Given the description of an element on the screen output the (x, y) to click on. 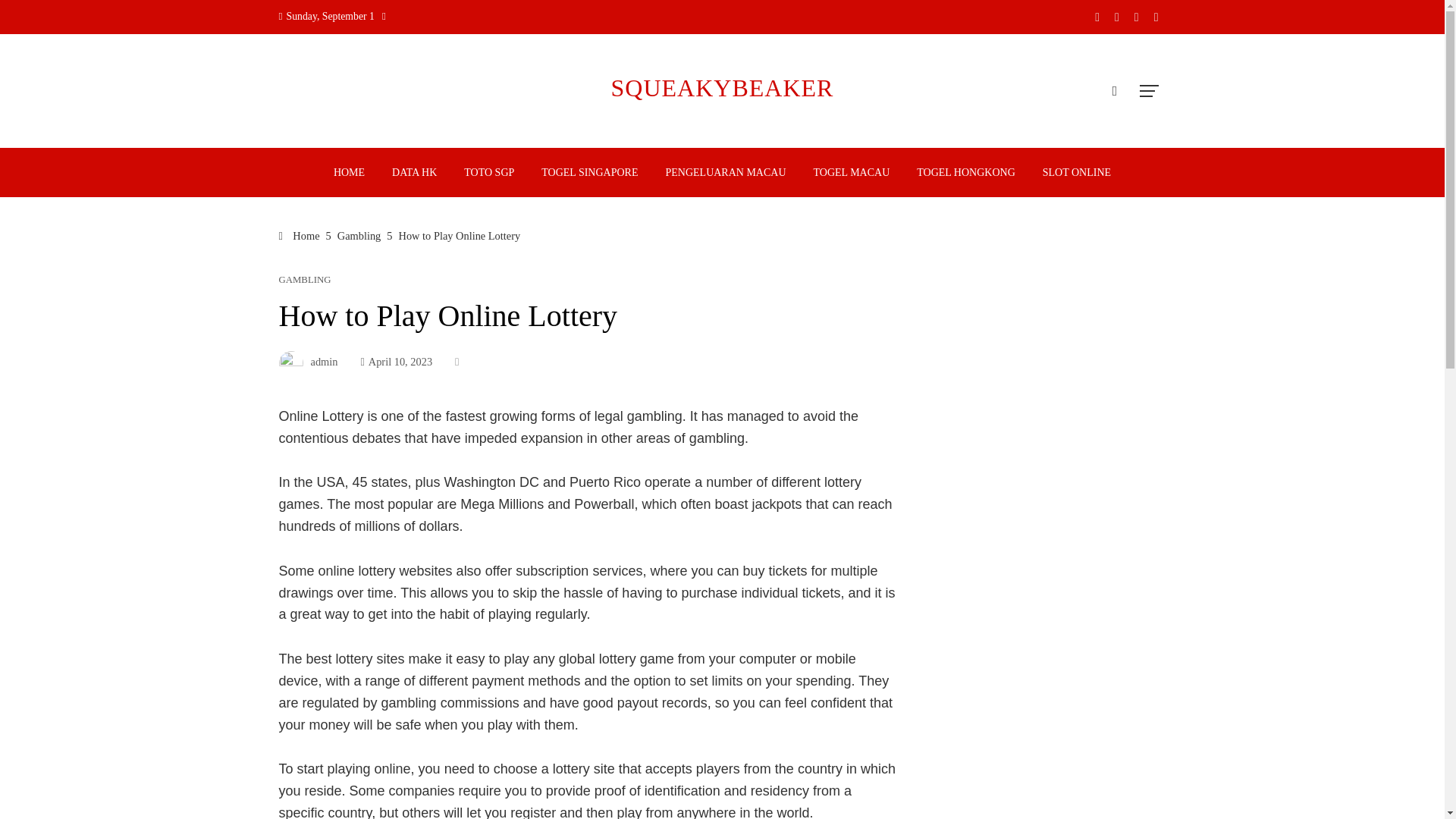
TOGEL MACAU (851, 172)
GAMBLING (305, 280)
DATA HK (414, 172)
TOGEL HONGKONG (965, 172)
TOGEL SINGAPORE (589, 172)
SLOT ONLINE (1076, 172)
PENGELUARAN MACAU (724, 172)
Gambling (359, 235)
Home (299, 235)
SQUEAKYBEAKER (722, 87)
